Given the description of an element on the screen output the (x, y) to click on. 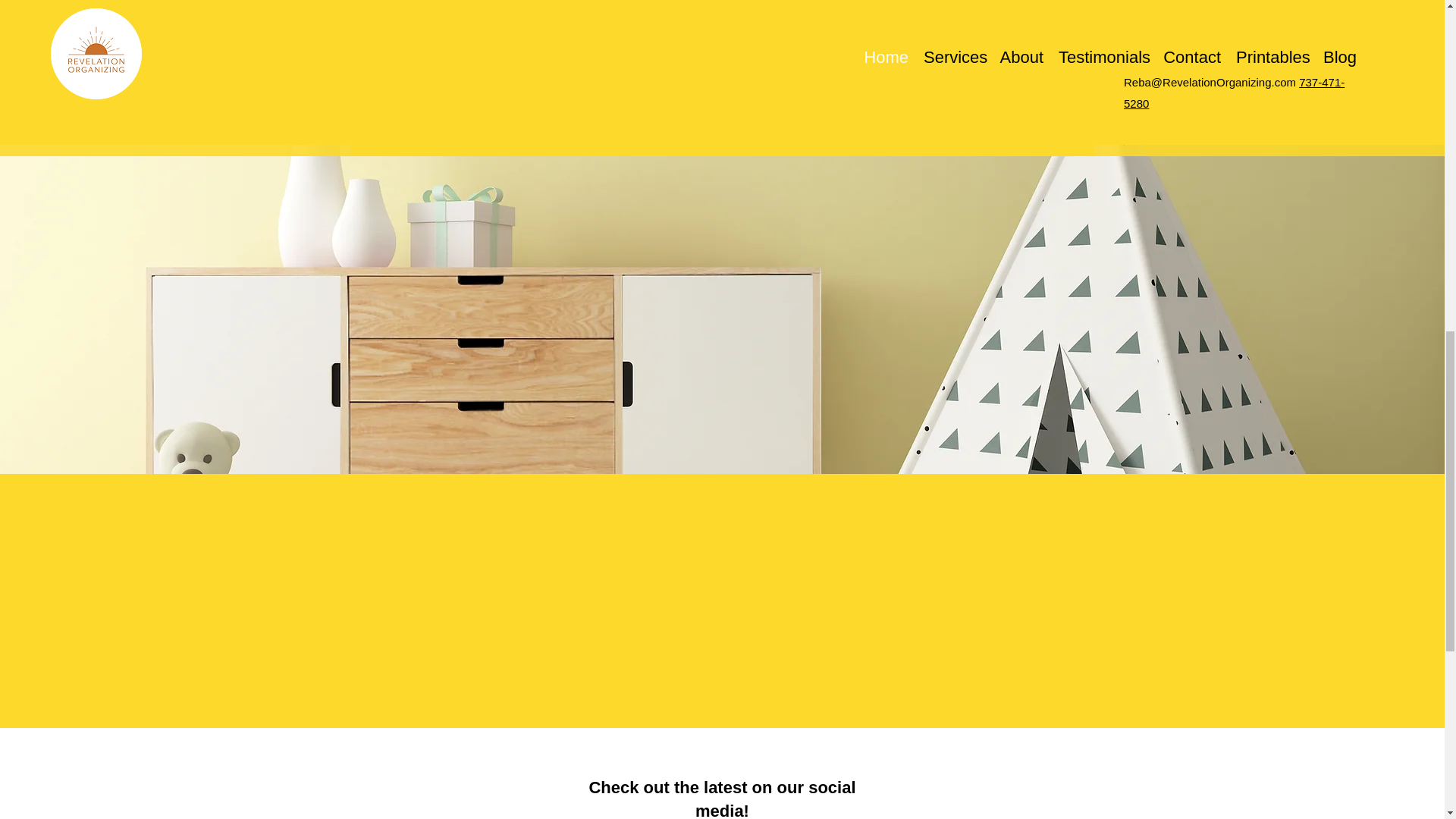
Fill Out the Contact Form (721, 86)
